Given the description of an element on the screen output the (x, y) to click on. 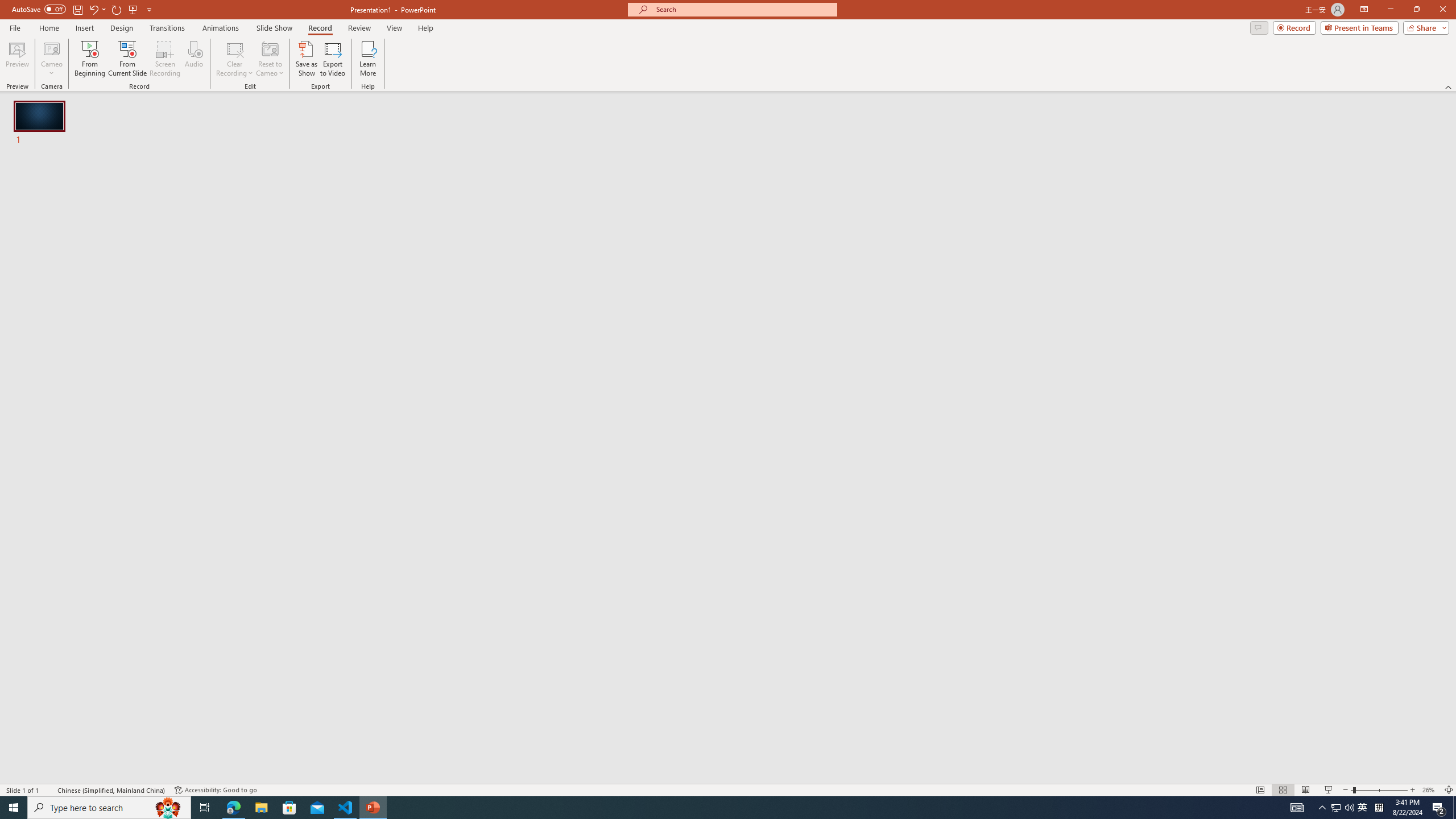
Cameo (51, 48)
Save (77, 9)
Slide (39, 123)
From Current Slide... (127, 58)
From Beginning (133, 9)
Zoom In (1412, 790)
Collapse the Ribbon (1448, 86)
Zoom 26% (1430, 790)
Customize Quick Access Toolbar (149, 9)
Ribbon Display Options (1364, 9)
Clear Recording (234, 58)
